Given the description of an element on the screen output the (x, y) to click on. 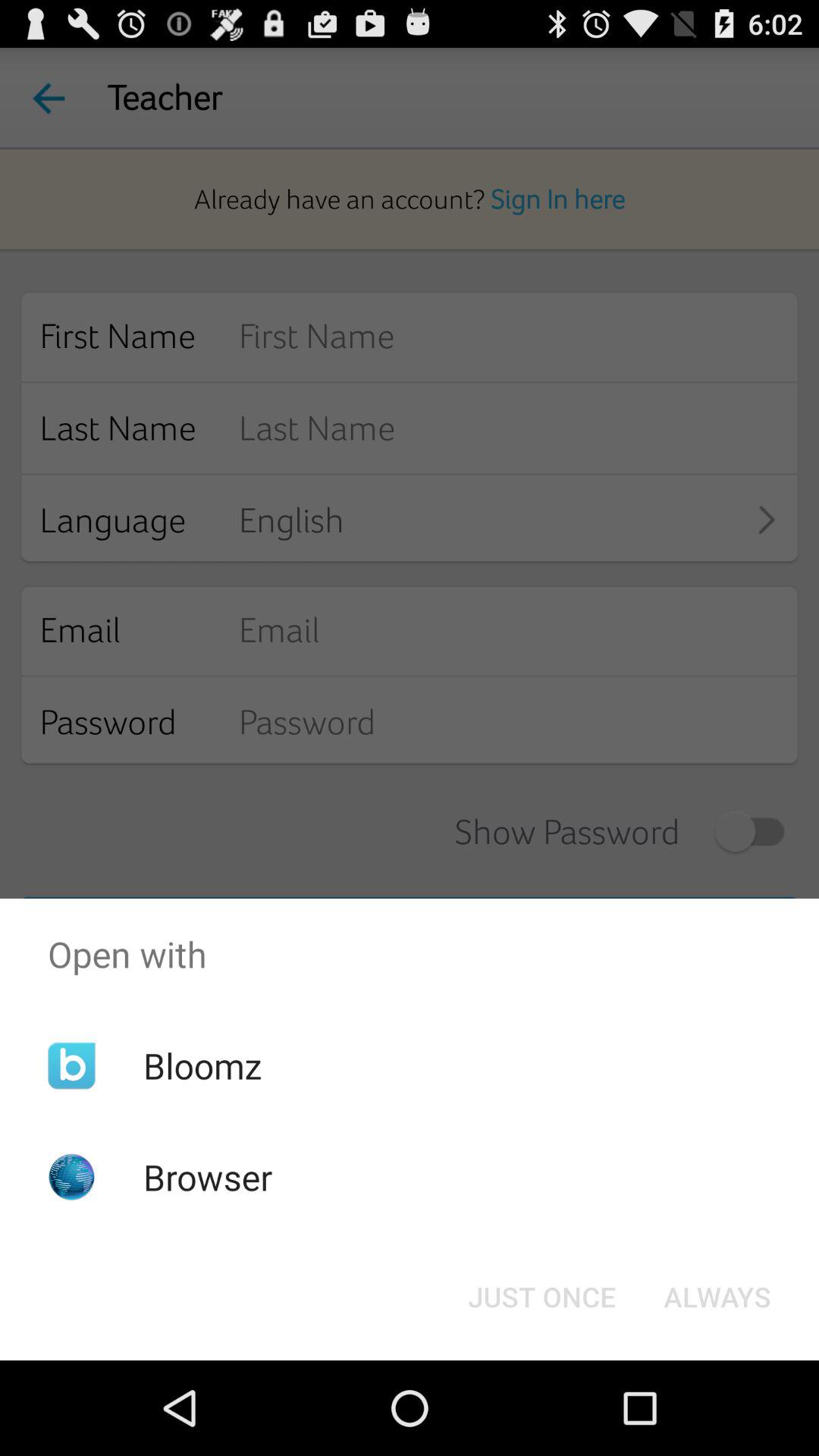
turn on the item below open with (202, 1065)
